Given the description of an element on the screen output the (x, y) to click on. 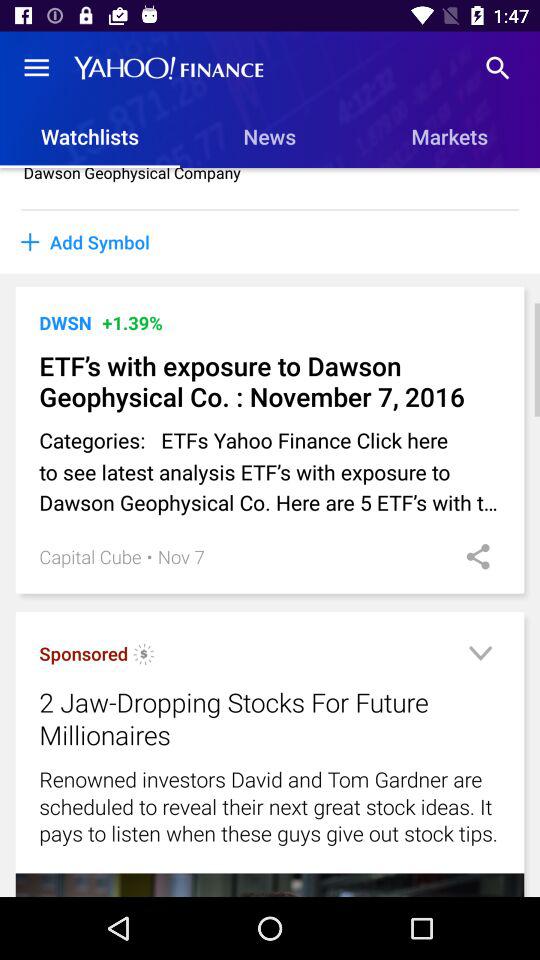
open the item below capital cube icon (83, 653)
